Given the description of an element on the screen output the (x, y) to click on. 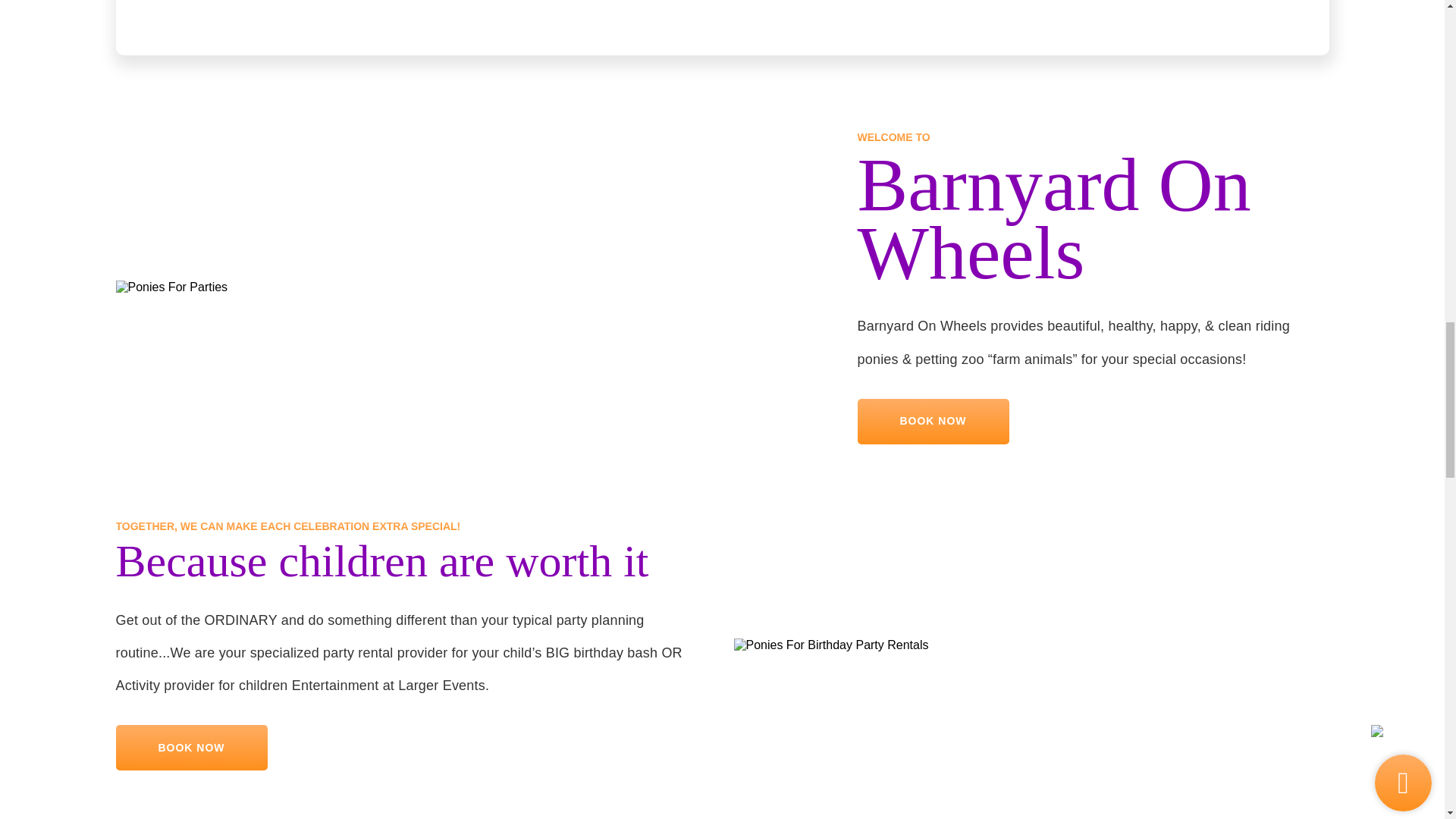
BOOK NOW (190, 747)
Ponies For Parties (171, 287)
Ponies For Birthday Party Rentals (830, 644)
BOOK NOW (933, 421)
